Given the description of an element on the screen output the (x, y) to click on. 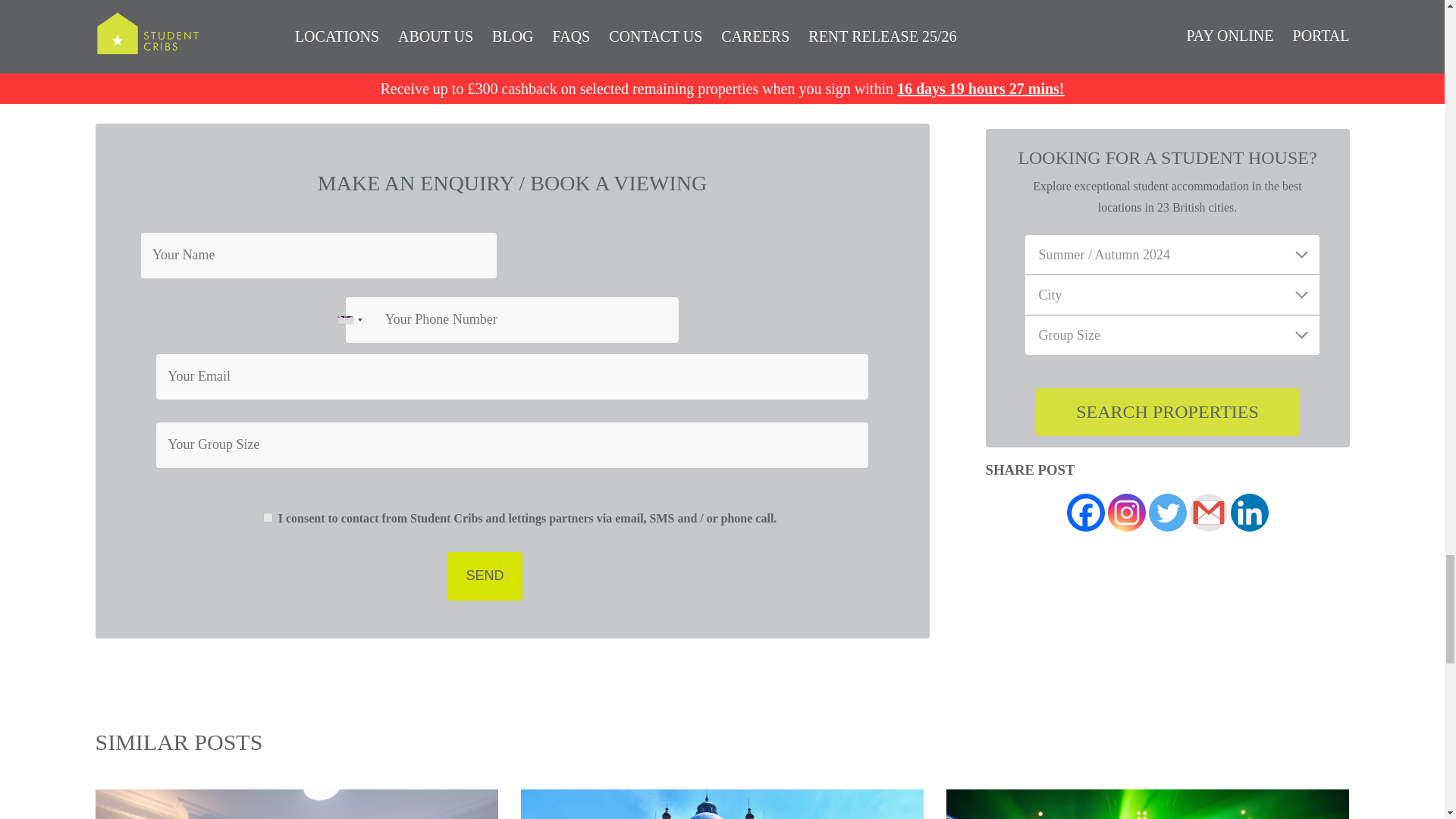
Send (483, 576)
click here to apply (518, 79)
Send (483, 576)
